Given the description of an element on the screen output the (x, y) to click on. 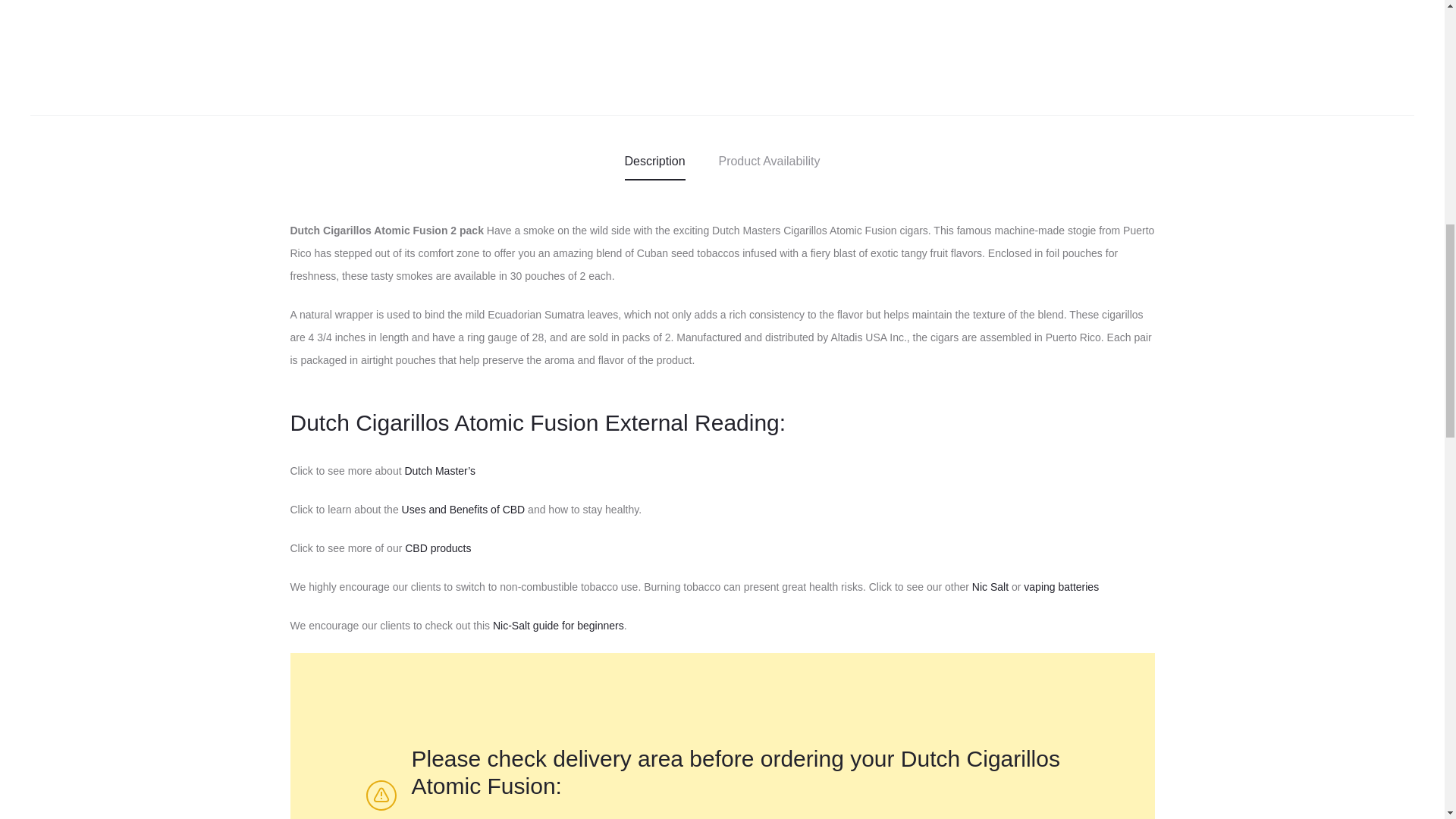
Dutch-Atomic-Fusion (370, 31)
